Given the description of an element on the screen output the (x, y) to click on. 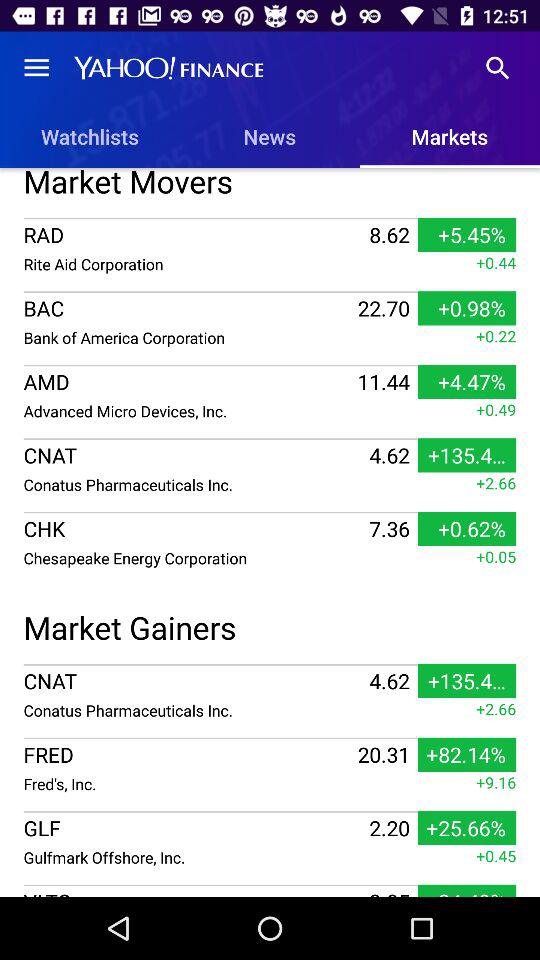
press the gulfmark offshore, inc. item (193, 857)
